Given the description of an element on the screen output the (x, y) to click on. 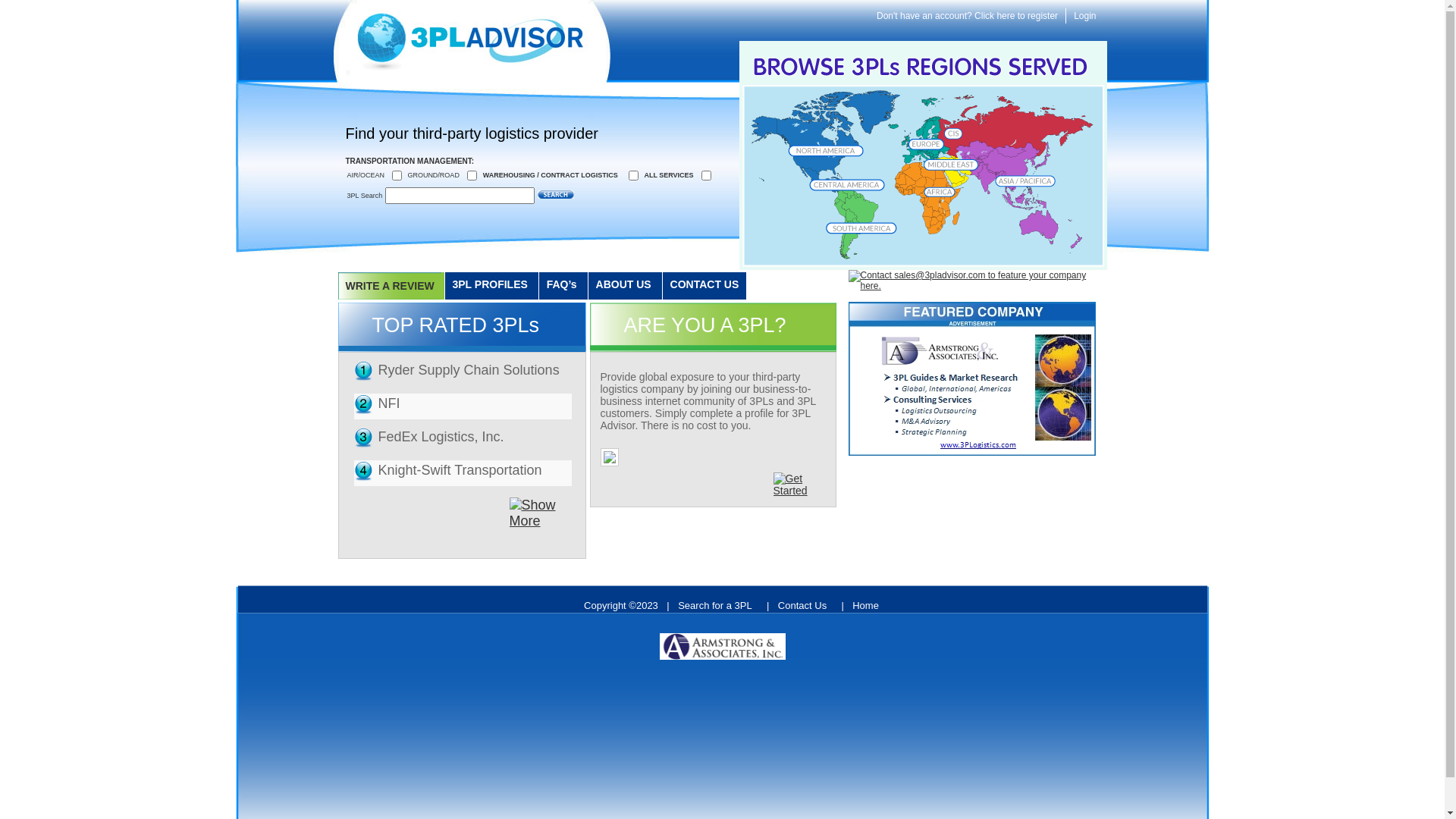
Knight-Swift Transportation Element type: text (459, 469)
Login Element type: text (1084, 15)
Home Element type: text (868, 605)
FedEx Logistics, Inc. Element type: text (440, 436)
Get Started Element type: hover (797, 484)
Search for a 3PL Element type: text (717, 605)
WRITE A REVIEW Element type: text (389, 285)
CONTACT US Element type: text (704, 285)
3PL PROFILES Element type: text (490, 285)
Ryder Supply Chain Solutions Element type: text (467, 369)
ABOUT US Element type: text (625, 285)
Contact Us Element type: text (805, 605)
Don't have an account? Click here to register Element type: text (967, 15)
Show More Element type: hover (540, 513)
NFI Element type: text (388, 403)
